Given the description of an element on the screen output the (x, y) to click on. 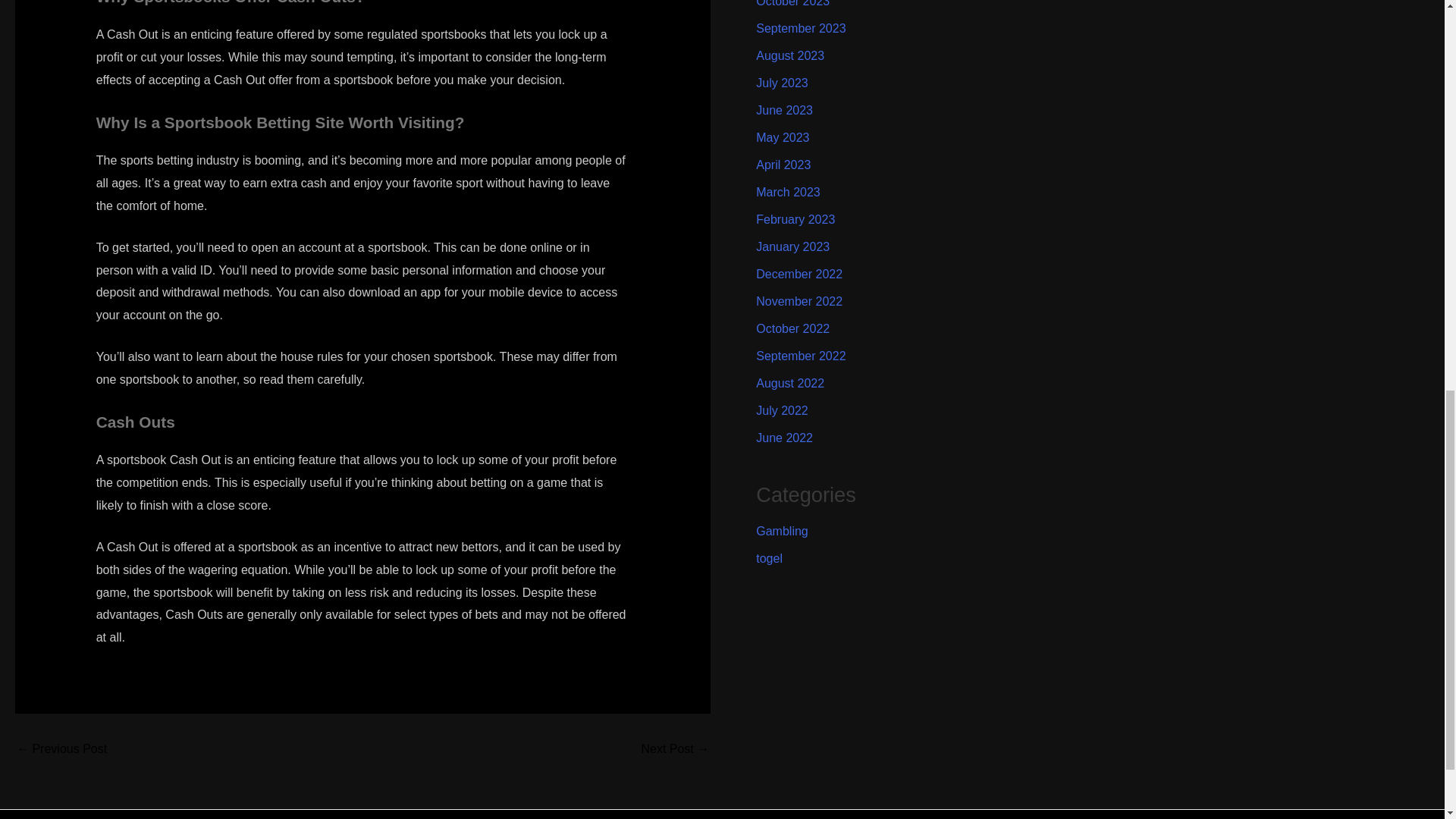
August 2023 (789, 55)
June 2023 (783, 110)
January 2023 (792, 246)
October 2023 (792, 3)
April 2023 (782, 164)
May 2023 (782, 137)
The Basics of Poker (674, 748)
September 2023 (800, 28)
July 2023 (781, 82)
Things You Need to Know Before You Start Gambling Online (61, 748)
